Given the description of an element on the screen output the (x, y) to click on. 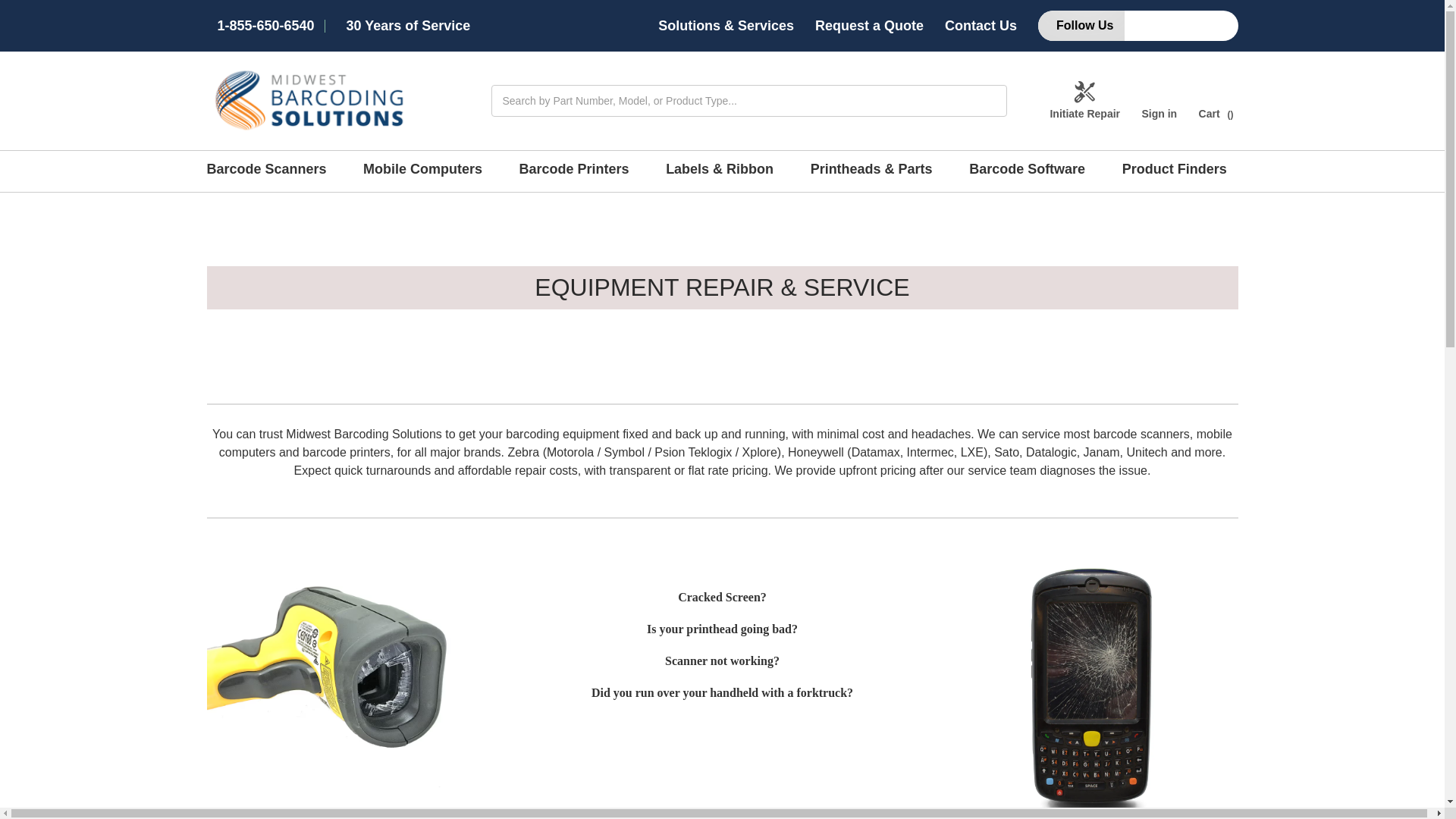
Initiate Repair (1084, 100)
Request a Quote (869, 25)
Barcode Scanners (271, 170)
1-855-650-6540 (265, 25)
Midwest Barcoding Solutions (309, 100)
Contact Us (980, 25)
